Given the description of an element on the screen output the (x, y) to click on. 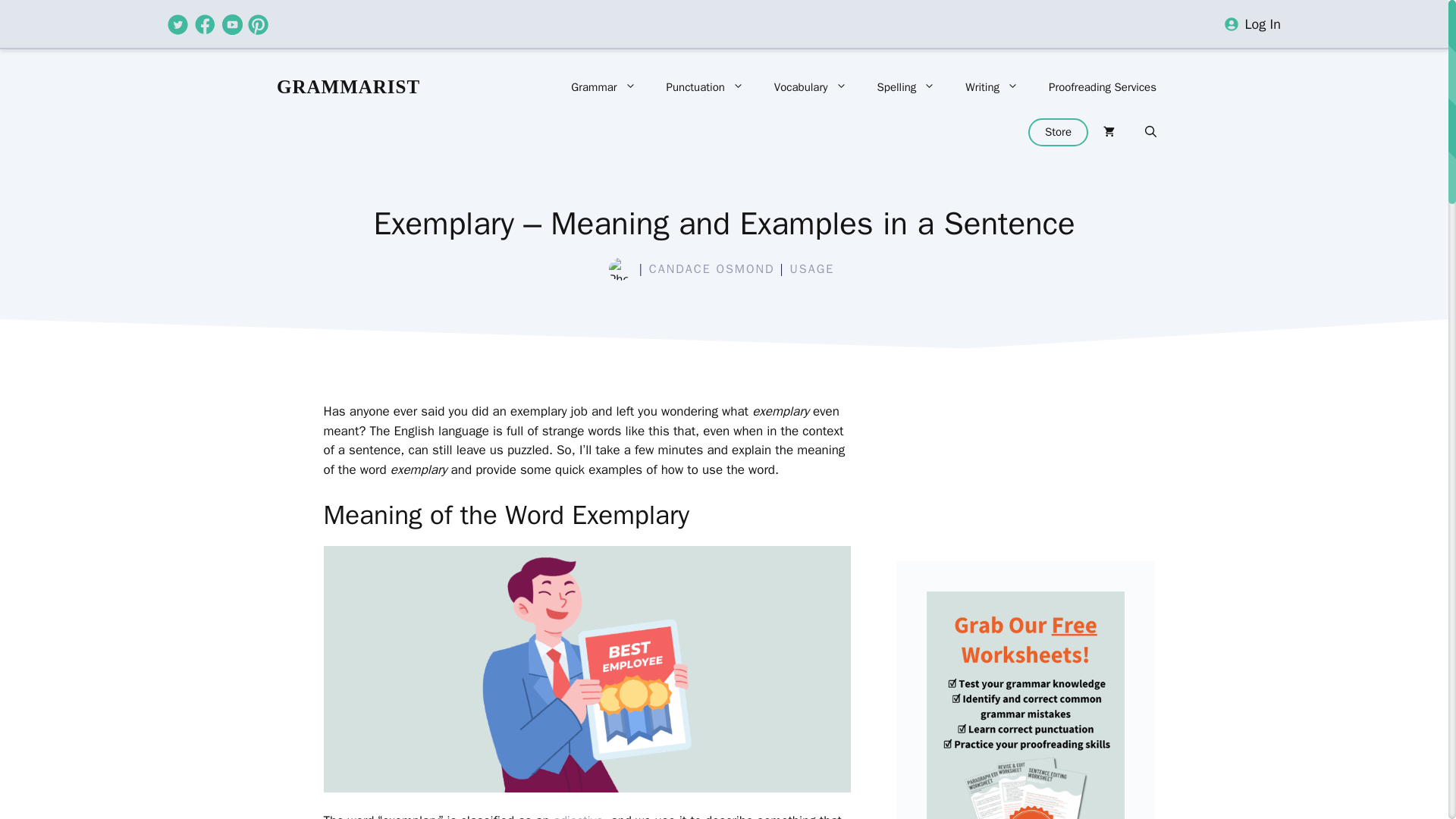
View your shopping cart (1108, 132)
Vocabulary (809, 86)
Punctuation (704, 86)
Grammar (603, 86)
Log In (1262, 23)
GRAMMARIST (348, 86)
